Given the description of an element on the screen output the (x, y) to click on. 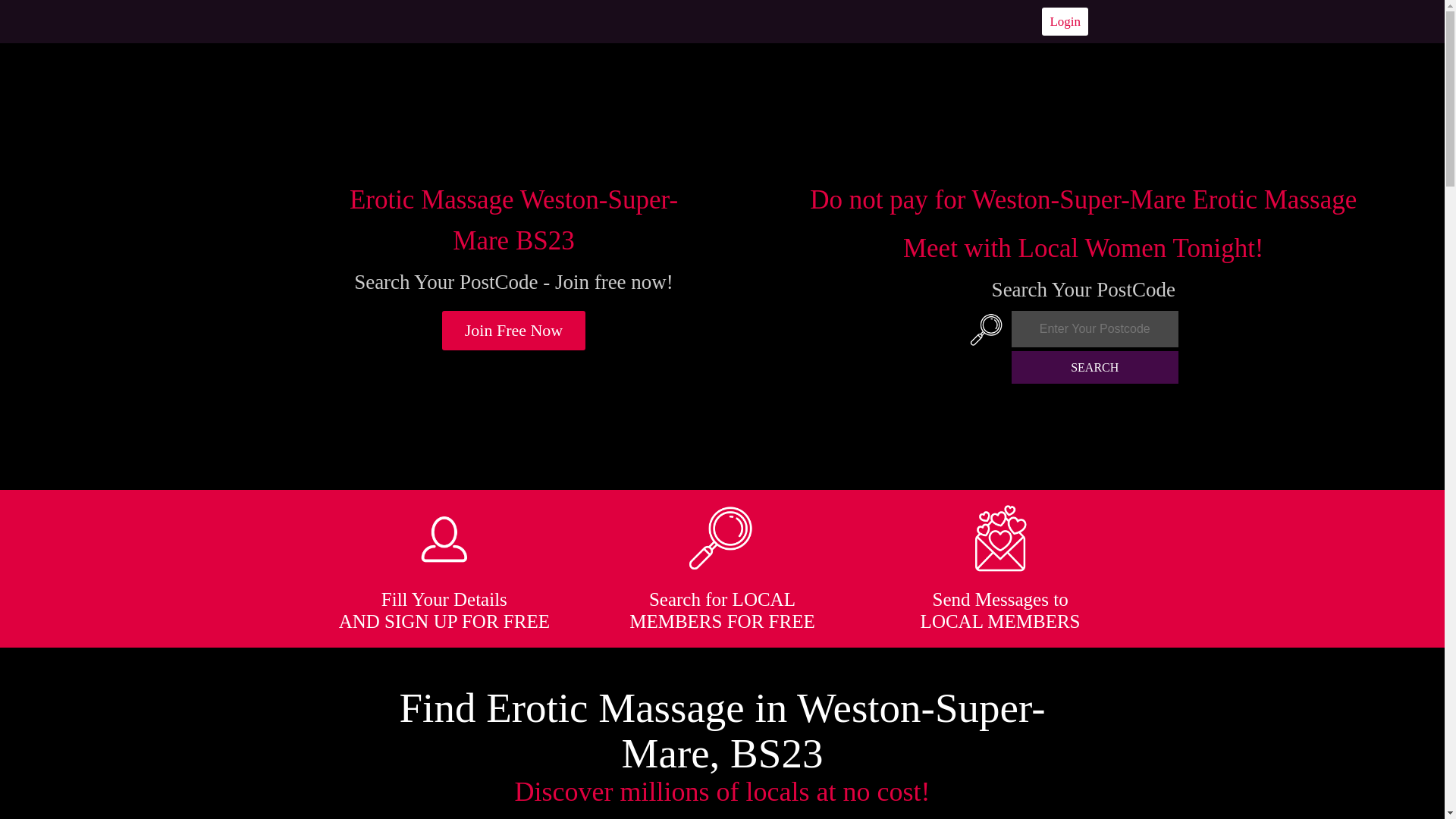
Login (1064, 21)
Join Free Now (514, 330)
Login (1064, 21)
Join (514, 330)
SEARCH (1094, 367)
